Given the description of an element on the screen output the (x, y) to click on. 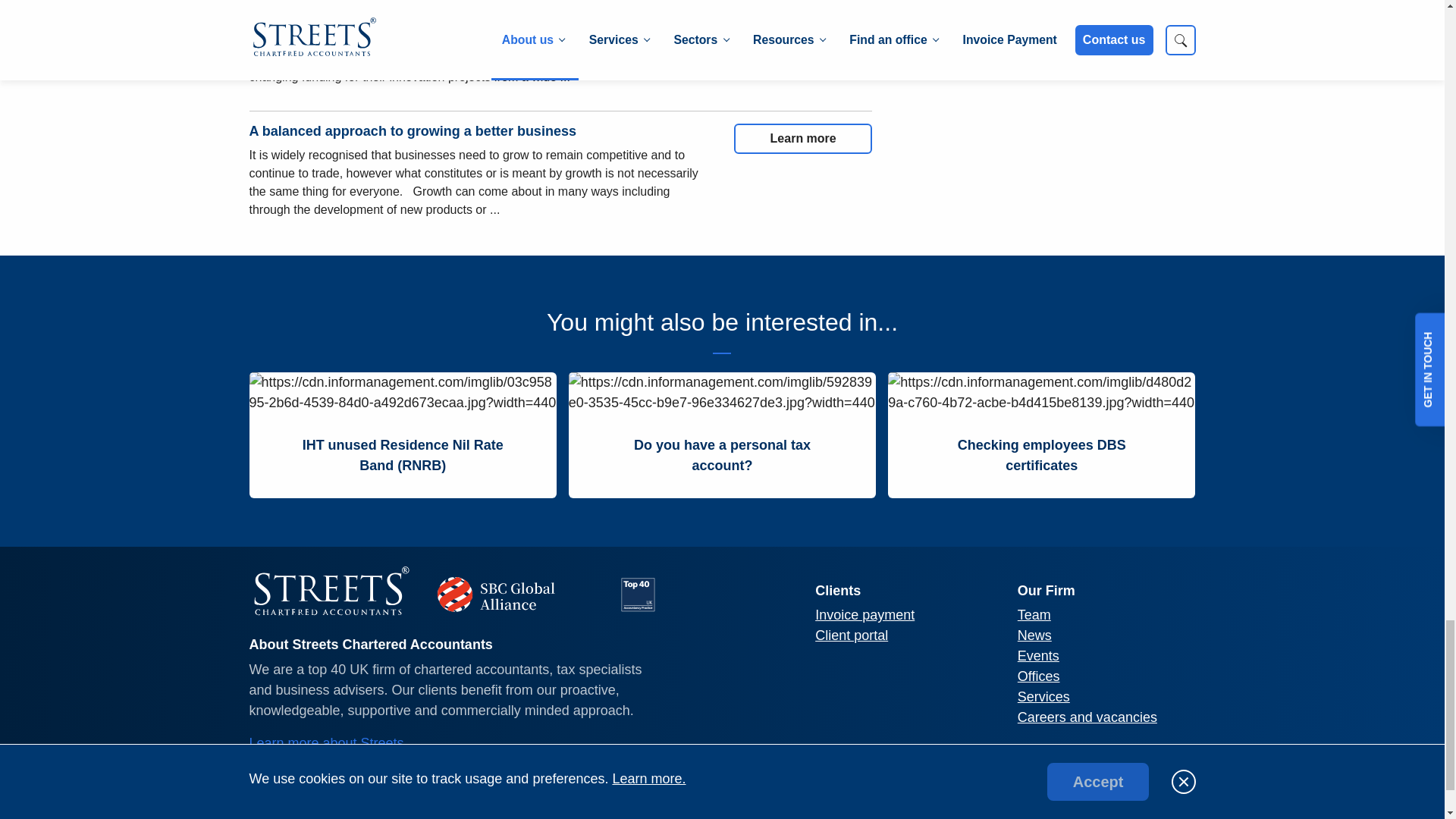
Read A balanced approach to growing a better business (801, 138)
Read Do you have a personal tax account? (722, 454)
Read Checking employees DBS certificates (1041, 454)
